Given the description of an element on the screen output the (x, y) to click on. 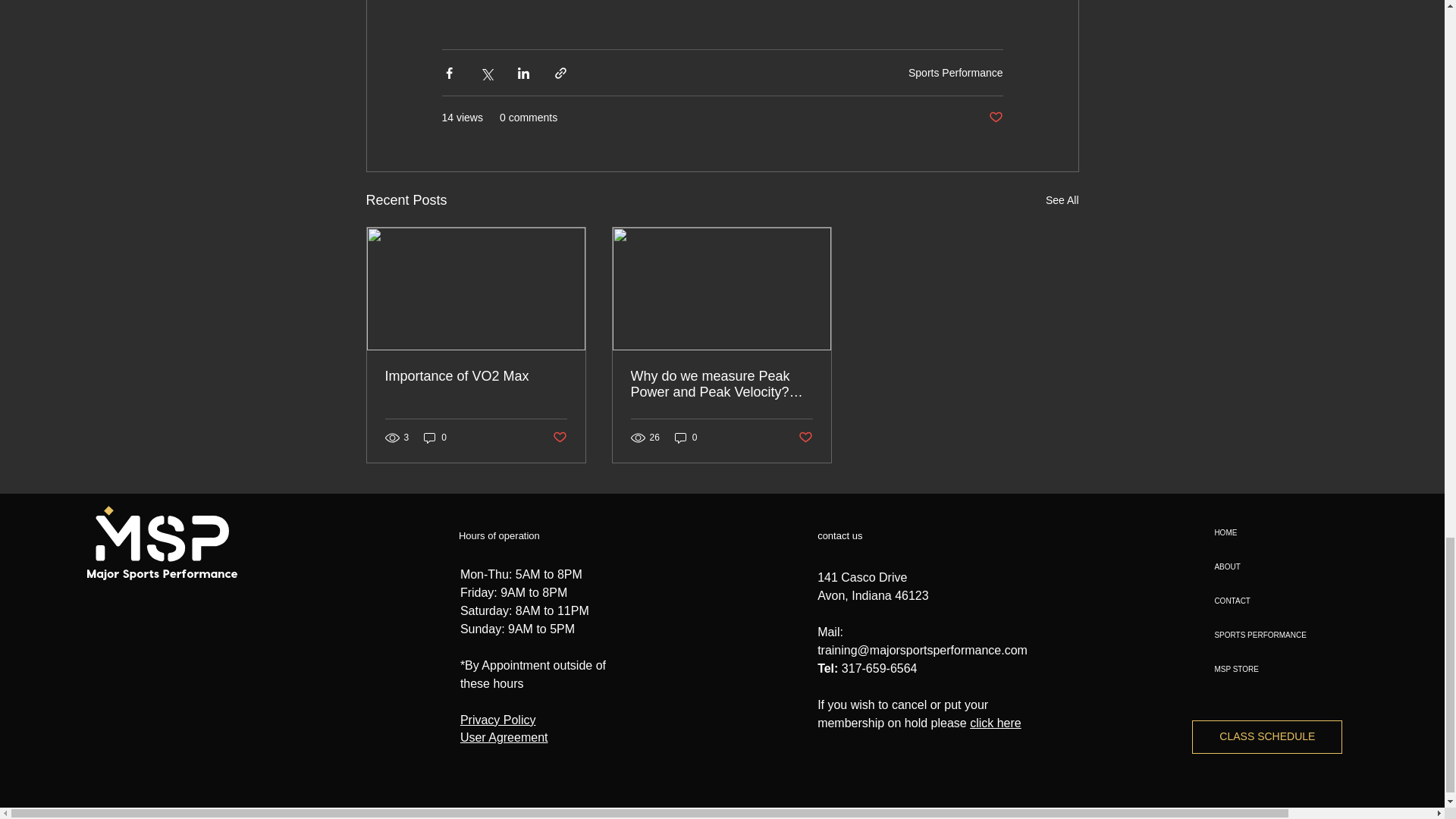
Post not marked as liked (558, 437)
Sports Performance (955, 71)
0 (685, 436)
Privacy Policy (497, 719)
Post not marked as liked (995, 117)
Post not marked as liked (804, 437)
See All (1061, 200)
HOME (1267, 532)
0 (435, 436)
